Given the description of an element on the screen output the (x, y) to click on. 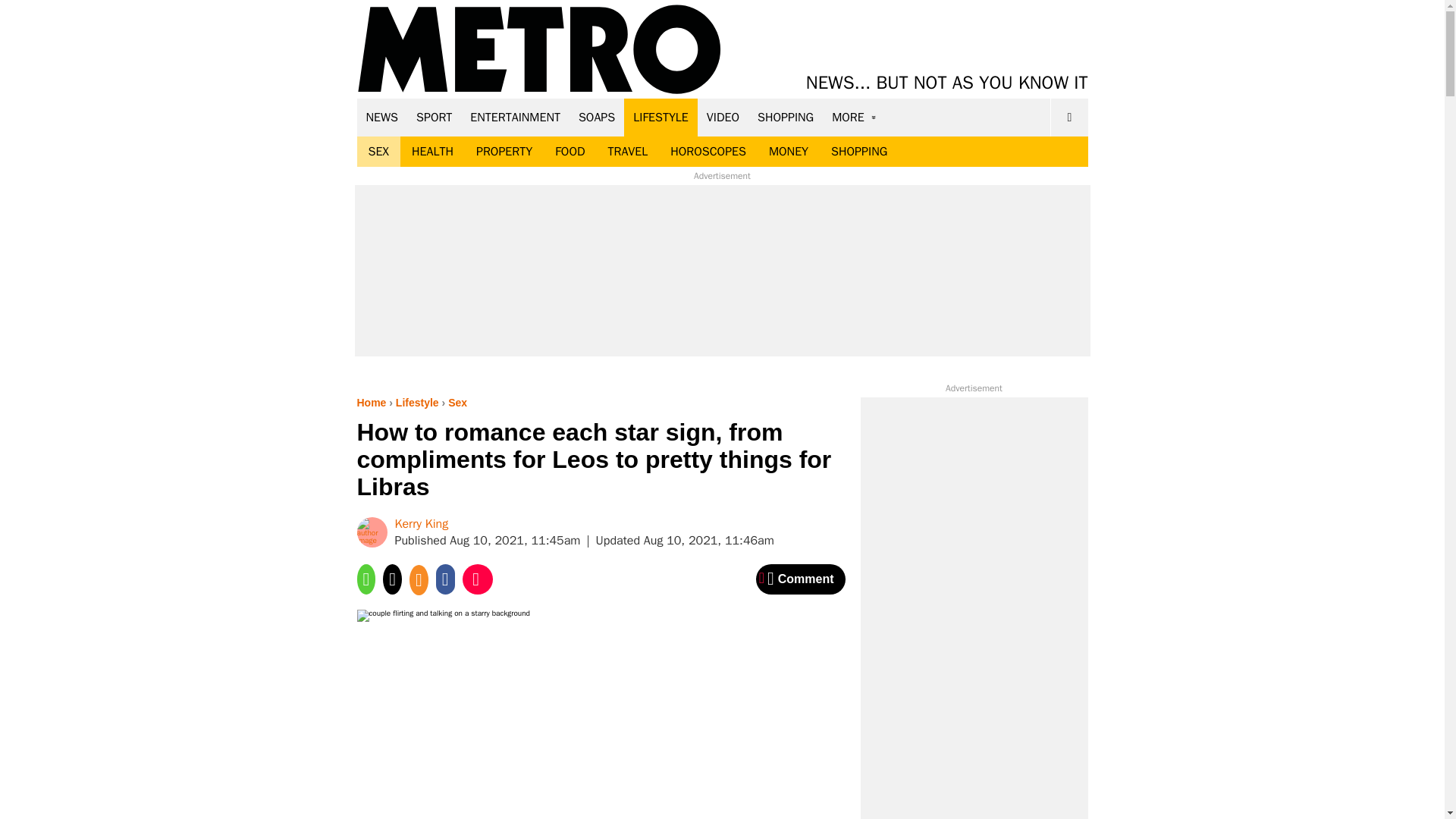
PROPERTY (503, 151)
HEALTH (432, 151)
SPORT (434, 117)
SOAPS (596, 117)
LIFESTYLE (660, 117)
FOOD (569, 151)
ENTERTAINMENT (515, 117)
Metro (539, 50)
NEWS (381, 117)
SEX (377, 151)
